Given the description of an element on the screen output the (x, y) to click on. 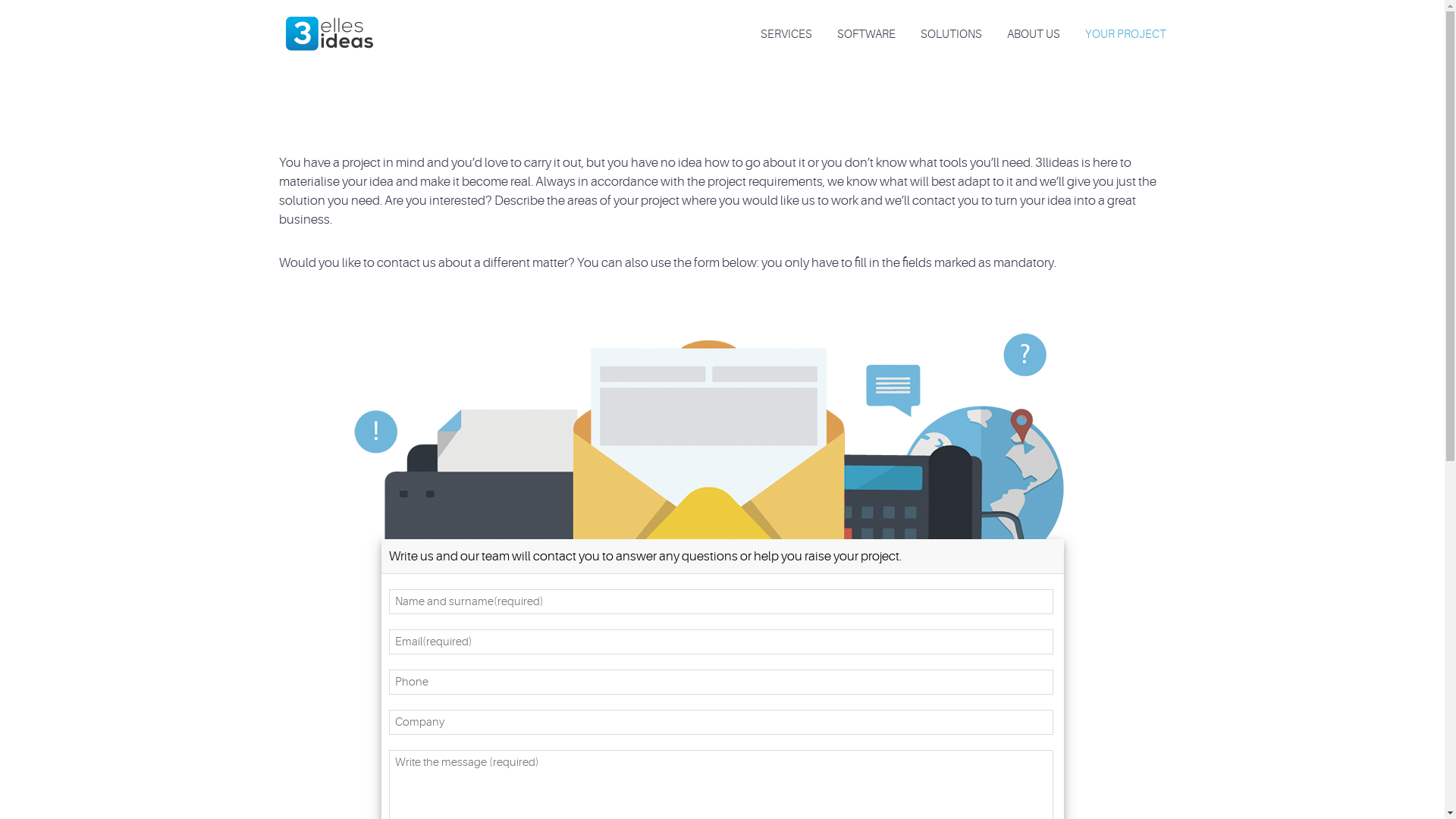
SOLUTIONS Element type: text (950, 34)
SERVICES Element type: text (786, 34)
YOUR PROJECT Element type: text (1125, 34)
ABOUT US Element type: text (1032, 34)
SOFTWARE Element type: text (865, 34)
3llideas.com Element type: hover (329, 25)
